Given the description of an element on the screen output the (x, y) to click on. 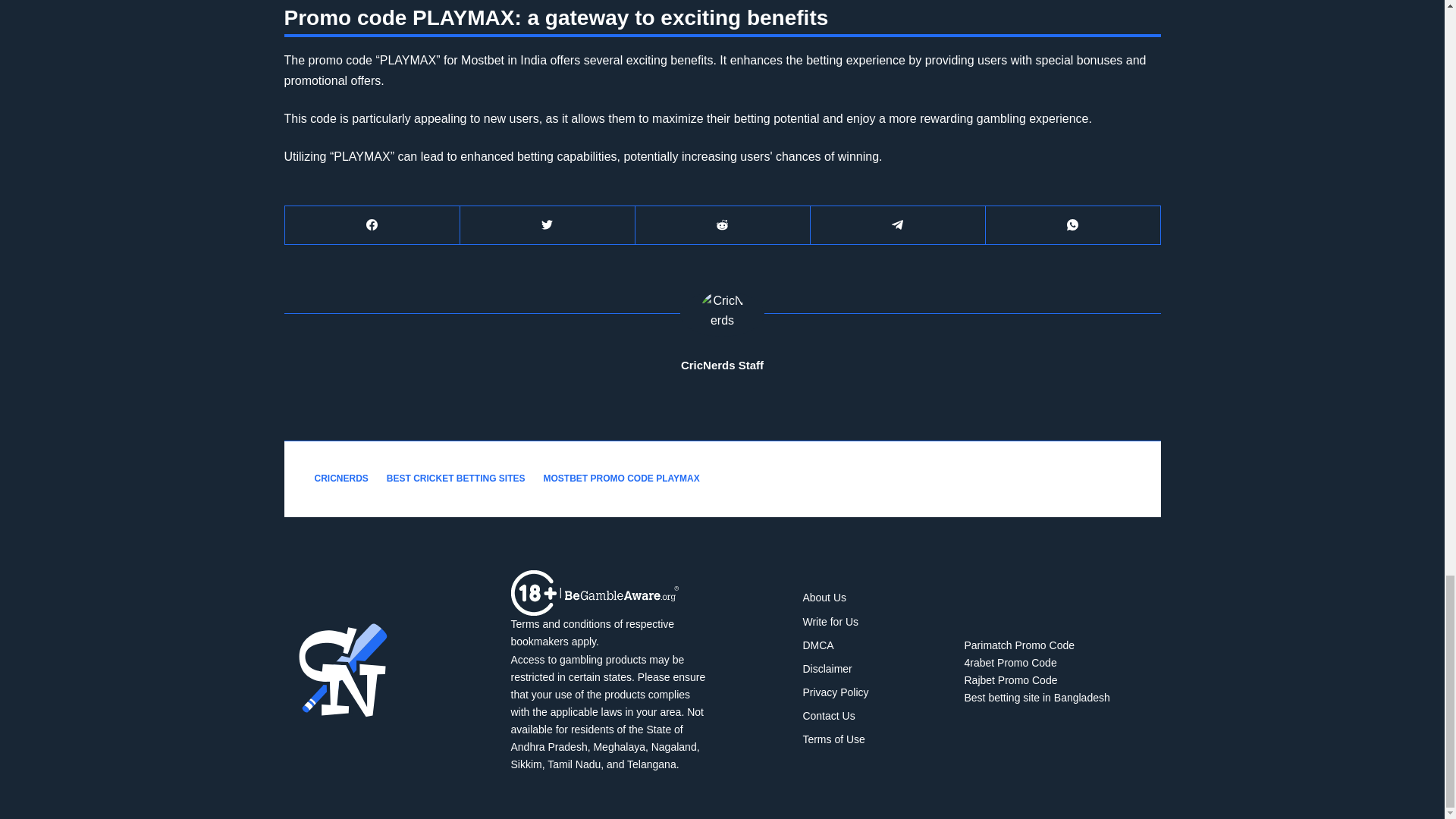
CricNerds Staff (721, 365)
CRICNERDS (341, 478)
BEST CRICKET BETTING SITES (456, 478)
